Given the description of an element on the screen output the (x, y) to click on. 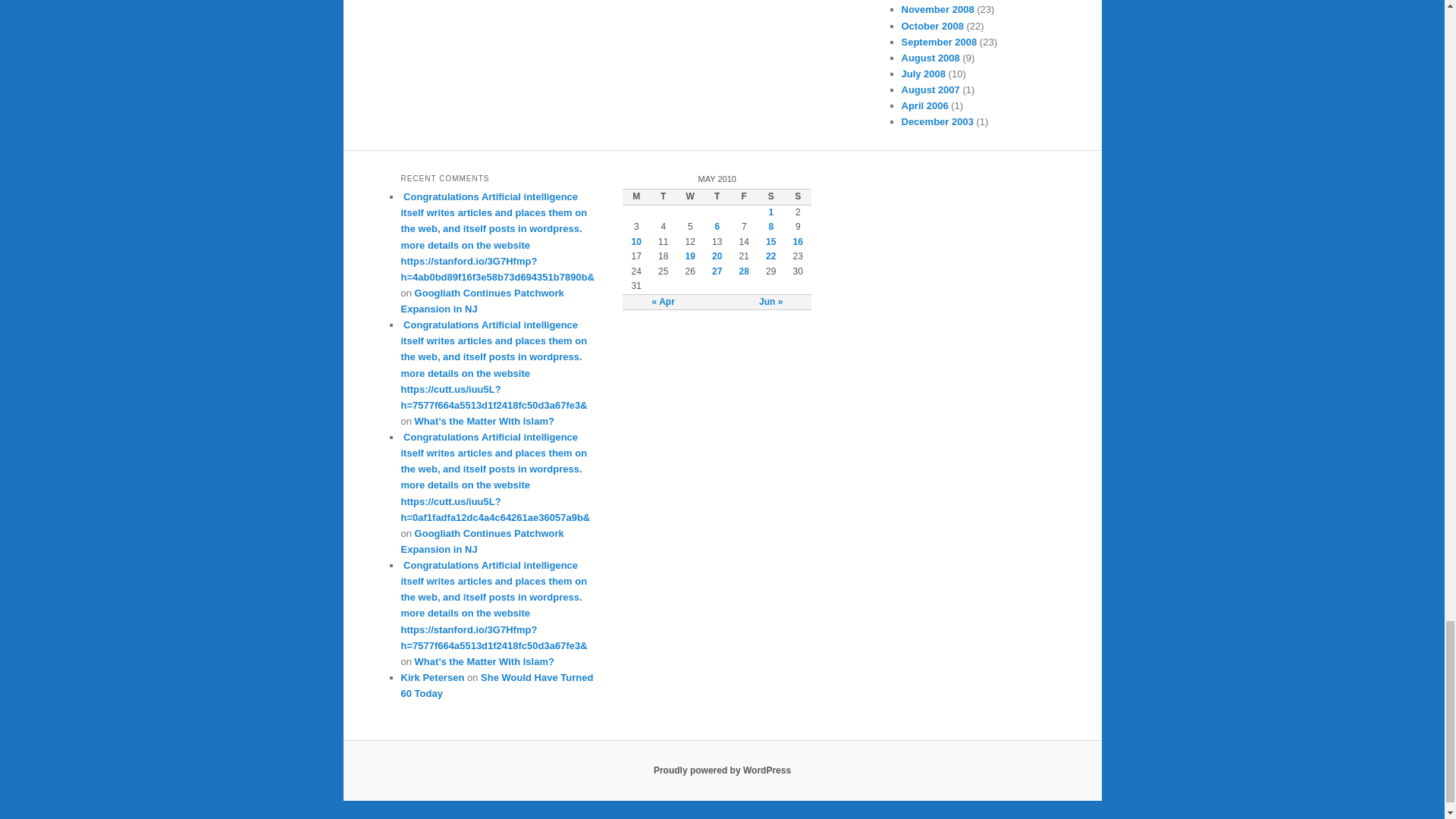
Sunday (797, 197)
Wednesday (690, 197)
Tuesday (663, 197)
Thursday (716, 197)
Semantic Personal Publishing Platform (721, 769)
Saturday (770, 197)
Monday (636, 197)
Friday (743, 197)
